Given the description of an element on the screen output the (x, y) to click on. 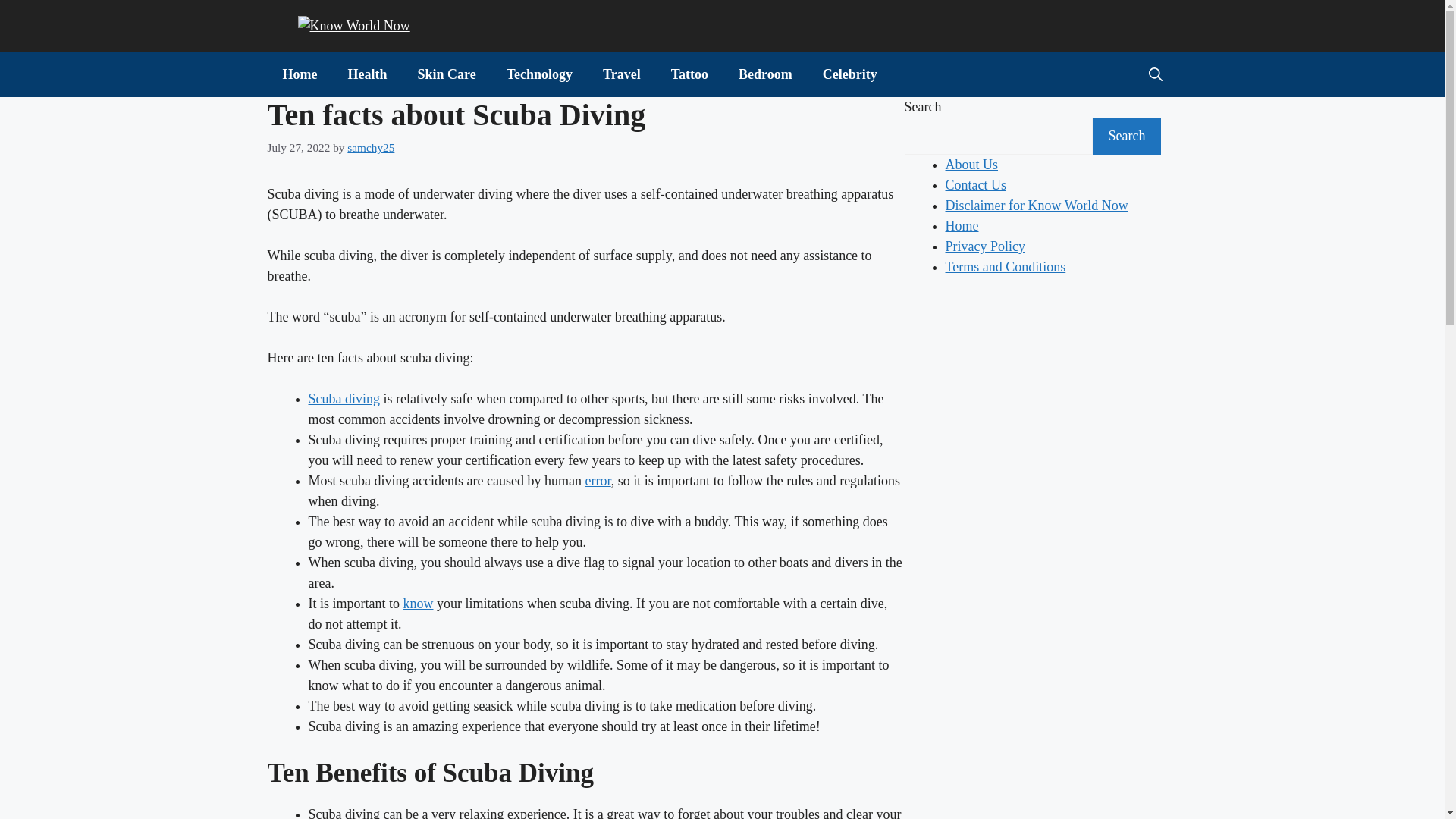
Tattoo (689, 74)
Disclaimer for Know World Now (1035, 205)
error (597, 480)
Privacy Policy (984, 246)
Celebrity (850, 74)
View all posts by samchy25 (370, 146)
Travel (622, 74)
Skin Care (445, 74)
know (418, 603)
Home (961, 225)
Search (1126, 135)
About Us (970, 164)
Home (298, 74)
Health (366, 74)
error (597, 480)
